Given the description of an element on the screen output the (x, y) to click on. 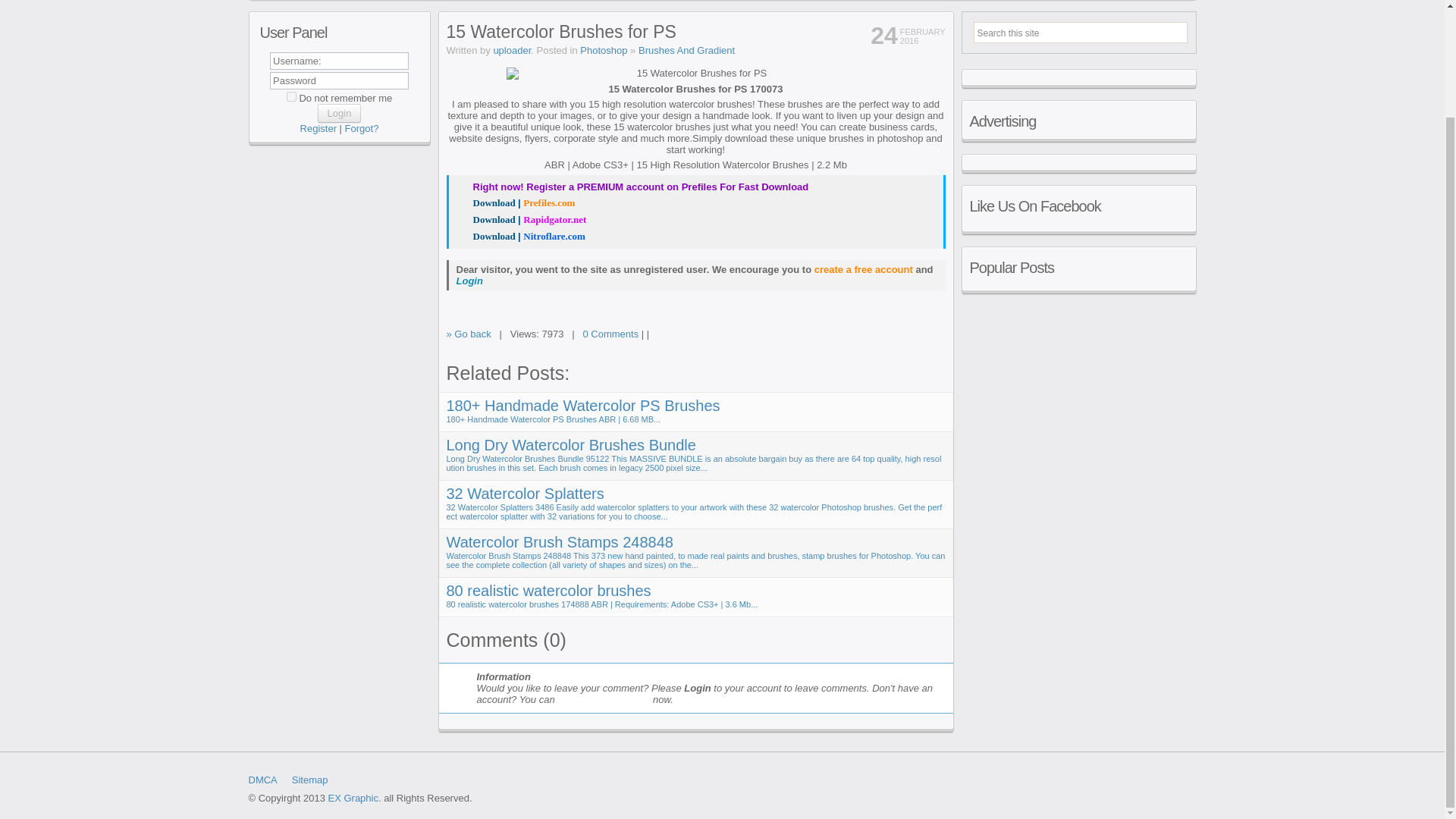
Bad (886, 336)
15 Watercolor Brushes for PS (521, 236)
Poor (899, 336)
15 Watercolor Brushes for PS (516, 202)
Fair (913, 336)
1 (291, 96)
15 Watercolor Brushes for PS (521, 219)
Good (924, 336)
Login (339, 113)
